Given the description of an element on the screen output the (x, y) to click on. 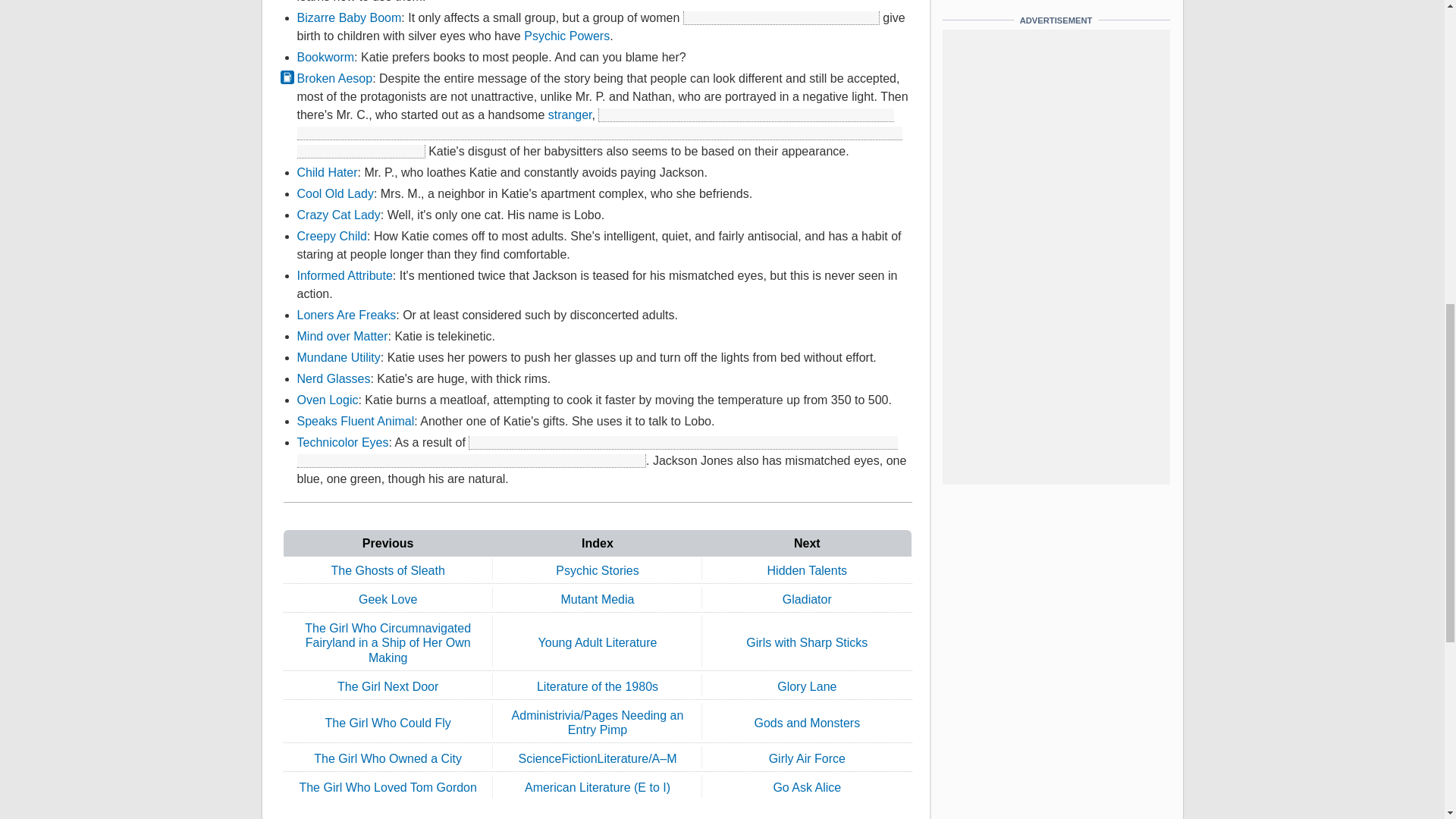
you can set spoilers visible by default on your profile (599, 133)
you can set spoilers visible by default on your profile (780, 18)
